Given the description of an element on the screen output the (x, y) to click on. 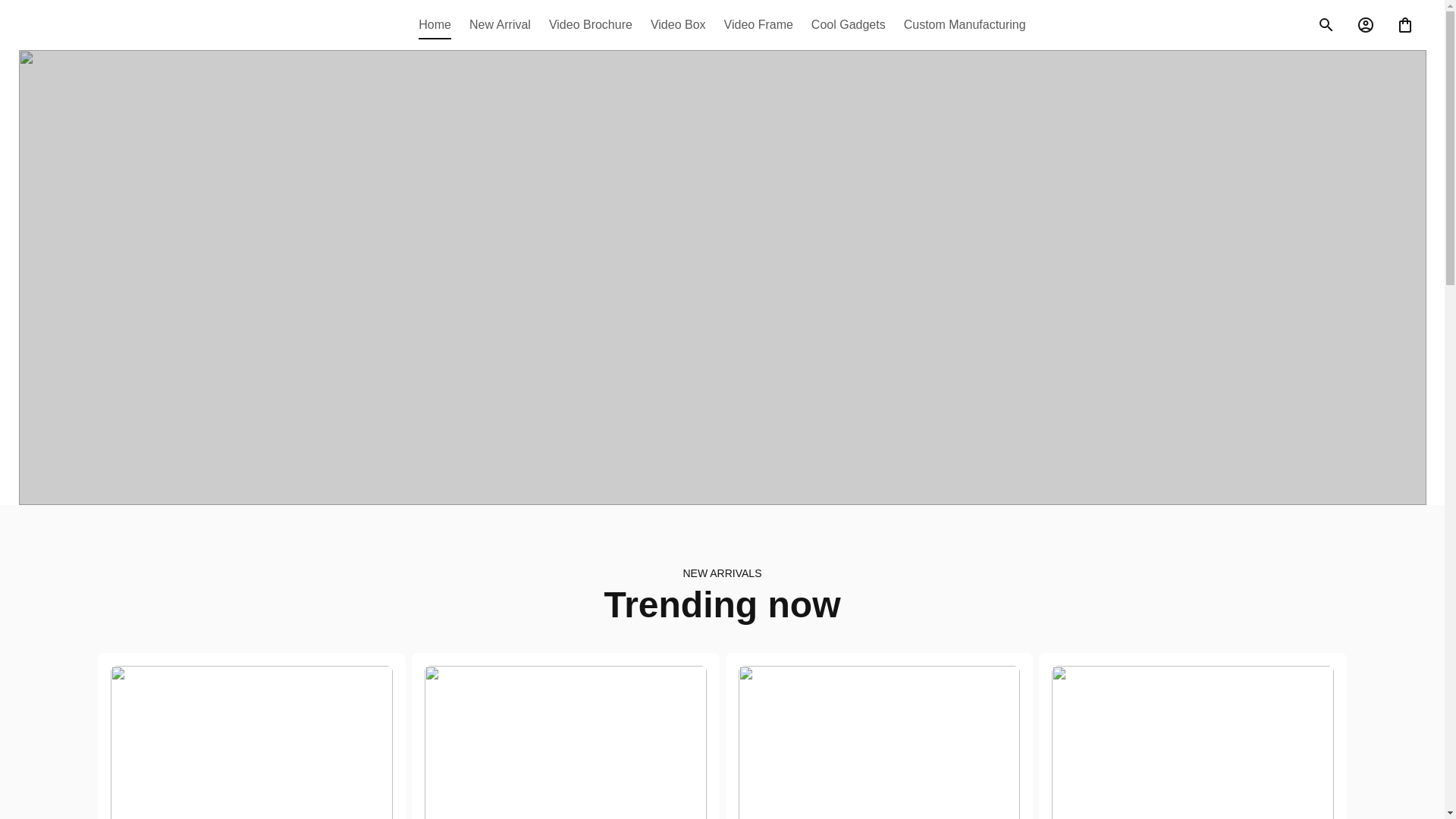
New Arrival (500, 24)
Video Brochure (591, 24)
Cool Gadgets (848, 24)
Video Box (678, 24)
Custom Manufacturing (960, 24)
Video Frame (758, 24)
Home (439, 24)
